Given the description of an element on the screen output the (x, y) to click on. 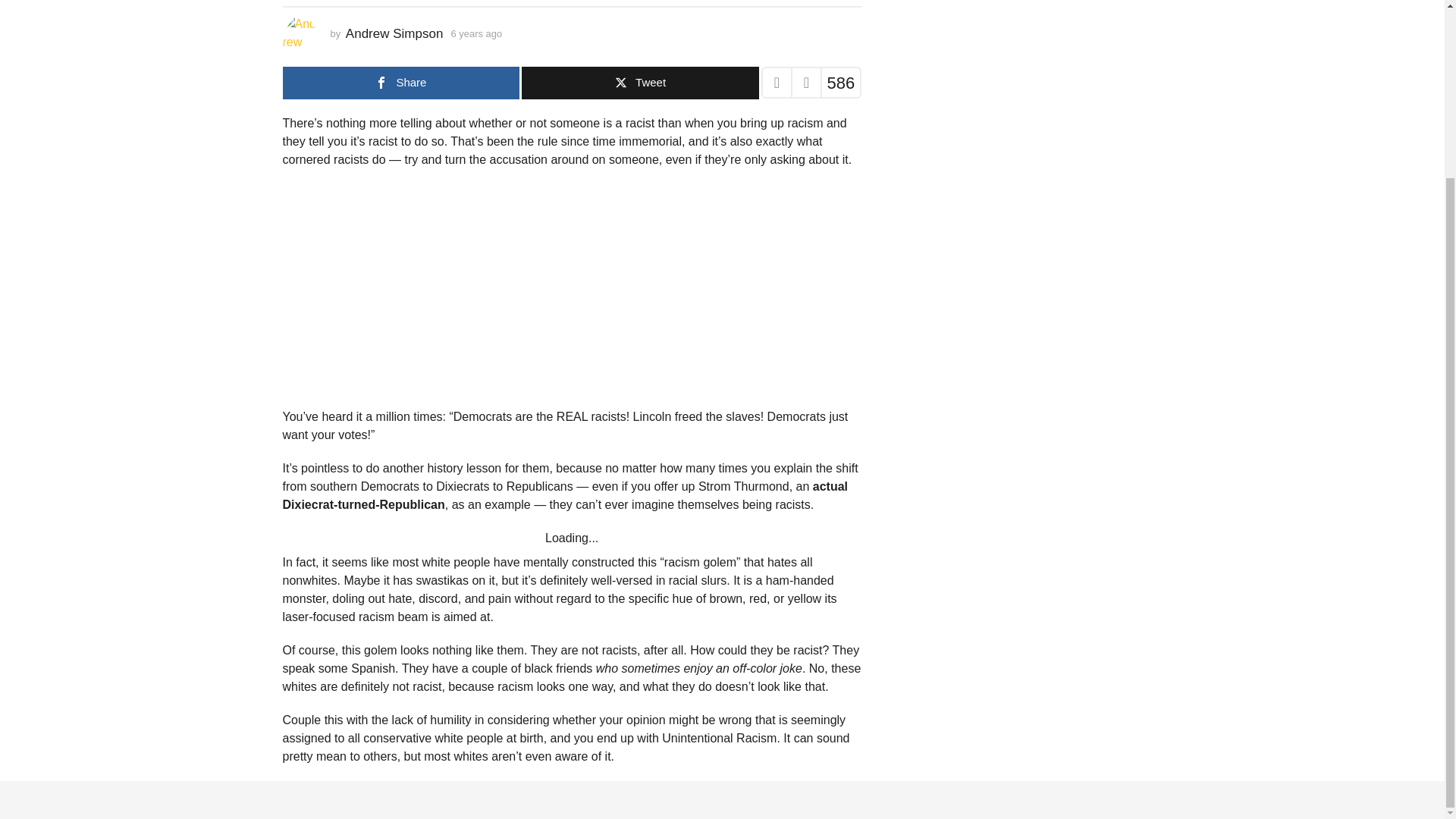
Andrew Simpson (395, 33)
Tweet (639, 82)
Share (400, 82)
